Given the description of an element on the screen output the (x, y) to click on. 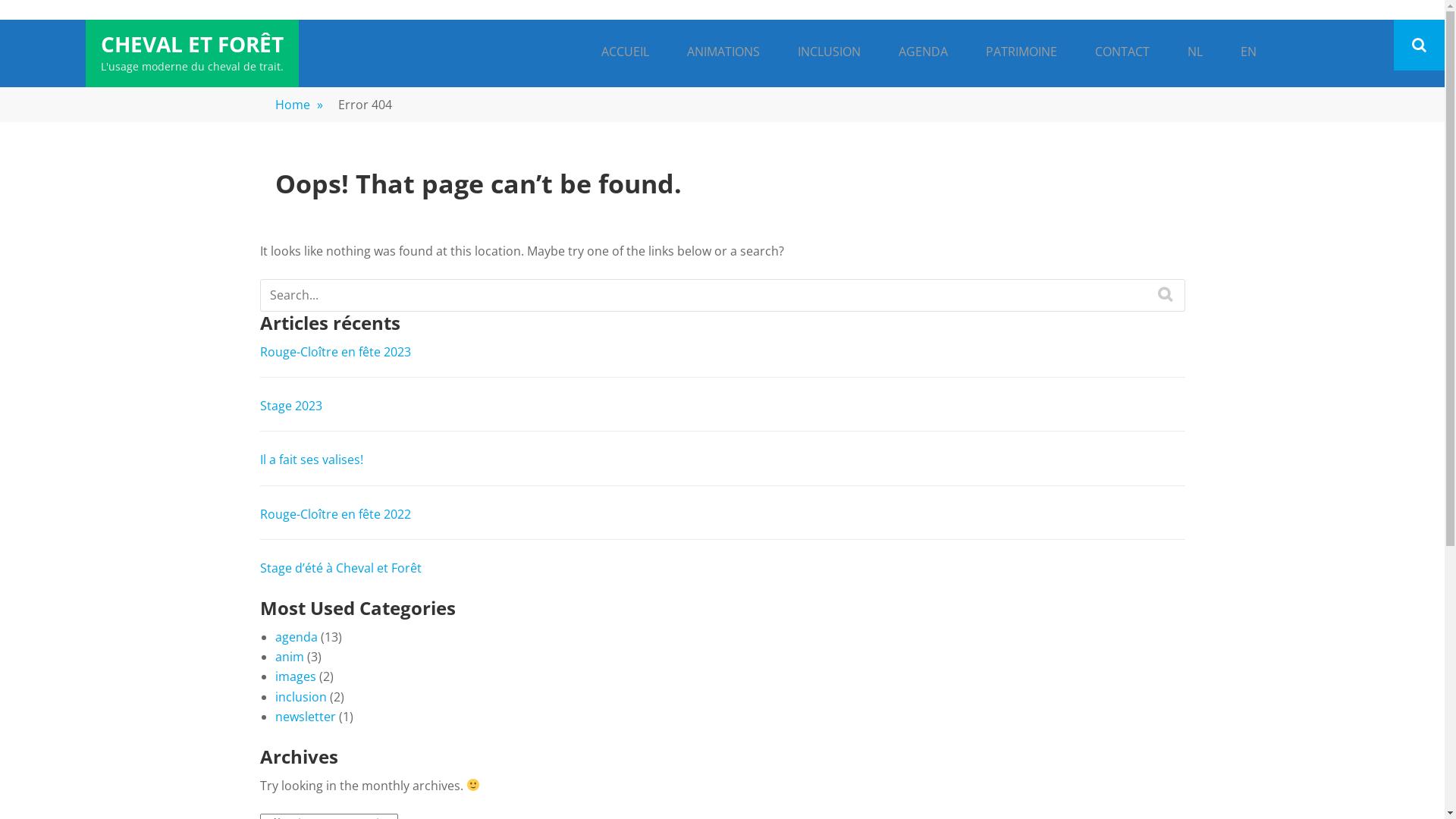
AGENDA Element type: text (923, 52)
newsletter Element type: text (304, 716)
PATRIMOINE Element type: text (1020, 52)
EN Element type: text (1247, 52)
anim Element type: text (288, 656)
Stage 2023 Element type: text (290, 405)
INCLUSION Element type: text (828, 52)
CONTACT Element type: text (1121, 52)
ANIMATIONS Element type: text (722, 52)
images Element type: text (294, 676)
inclusion Element type: text (300, 696)
NL Element type: text (1194, 52)
ACCUEIL Element type: text (624, 52)
SEARCH Element type: text (1165, 293)
agenda Element type: text (295, 636)
Search for: Element type: hover (722, 294)
Skip to content Element type: text (0, 19)
Il a fait ses valises! Element type: text (310, 459)
